Given the description of an element on the screen output the (x, y) to click on. 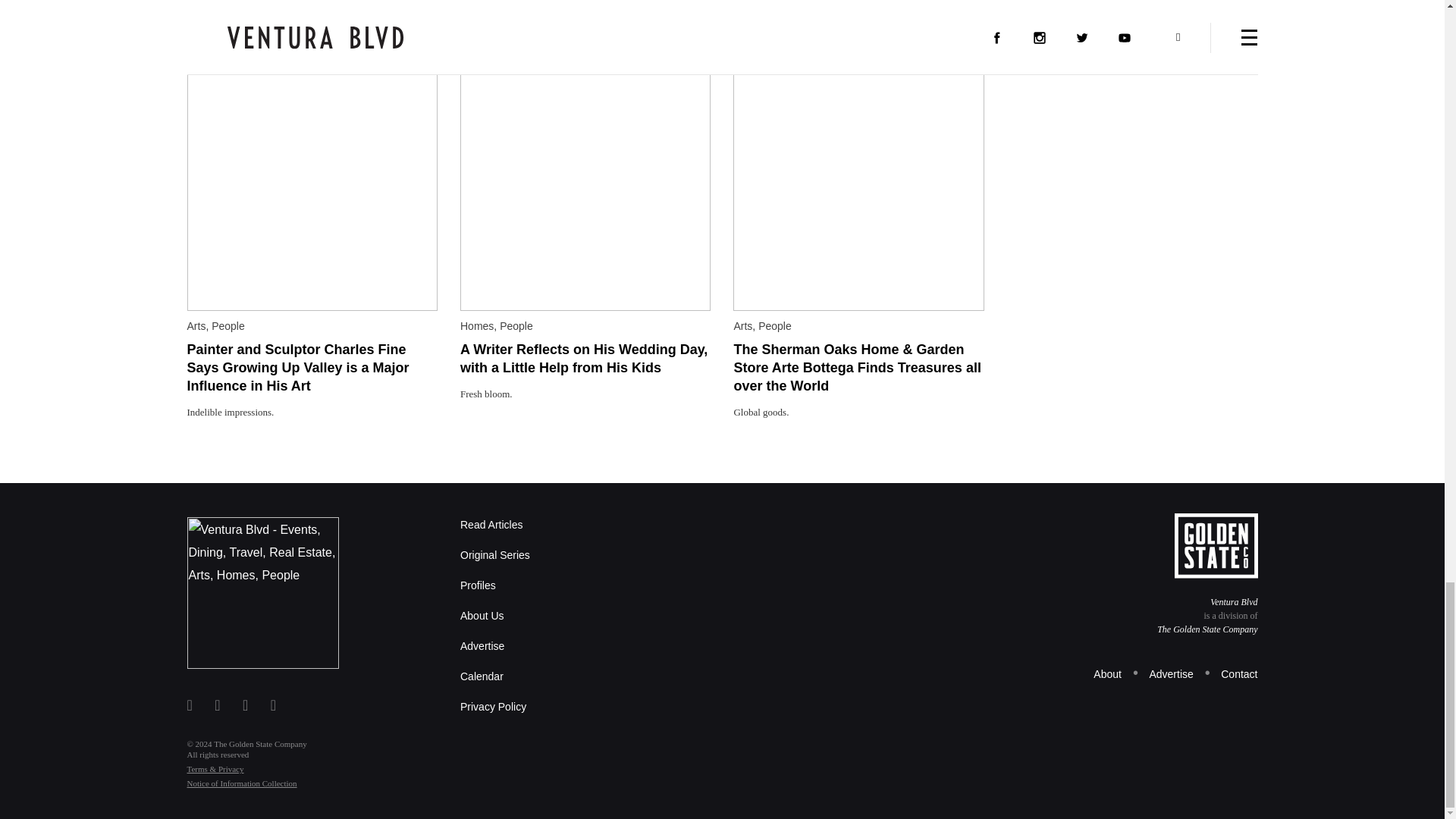
Arts (195, 326)
Arts (742, 326)
Homes (476, 326)
People (775, 326)
People (227, 326)
People (515, 326)
